Given the description of an element on the screen output the (x, y) to click on. 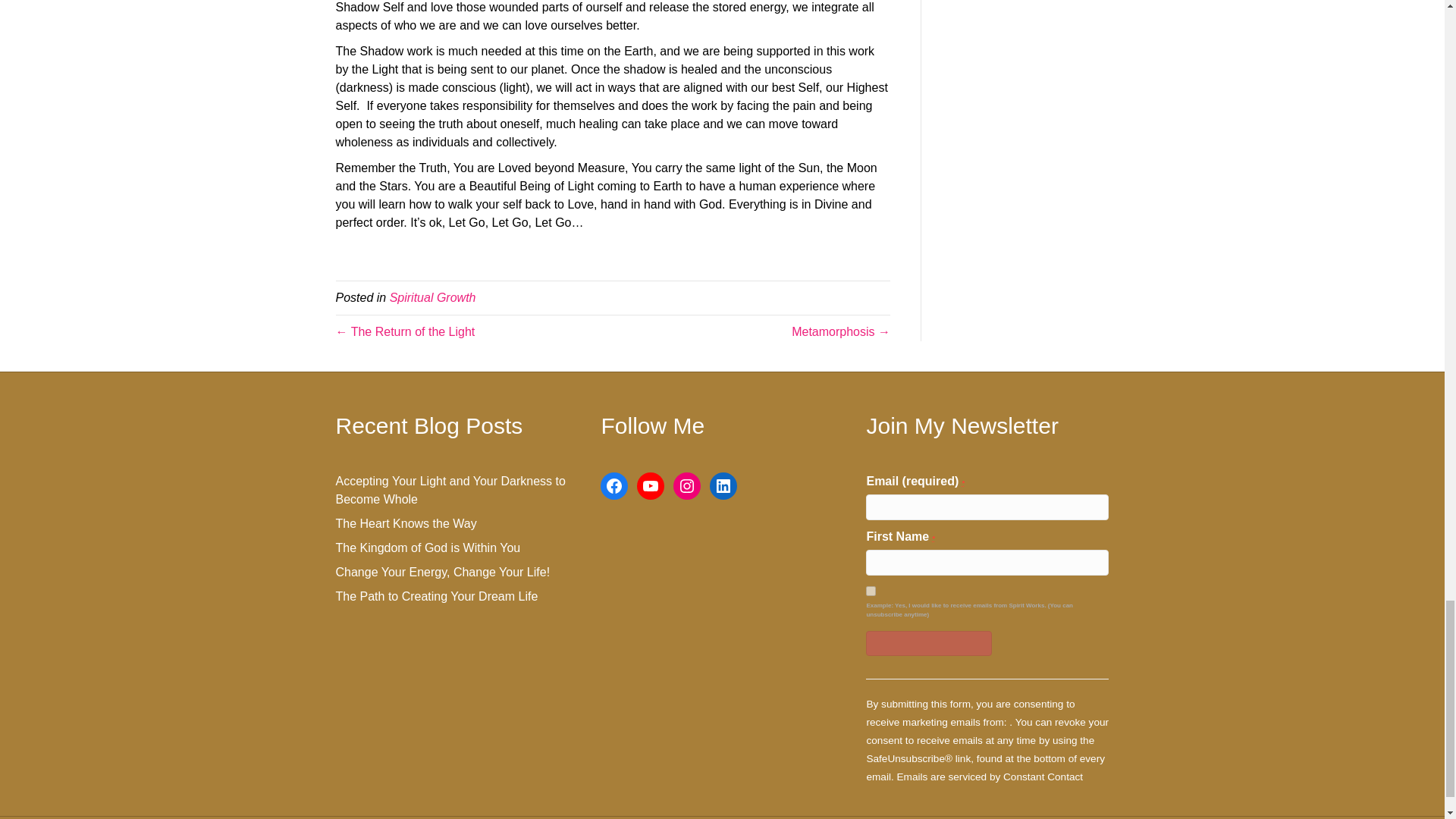
Spiritual Growth (433, 297)
Join My Mailing List (928, 643)
1 (871, 591)
